Given the description of an element on the screen output the (x, y) to click on. 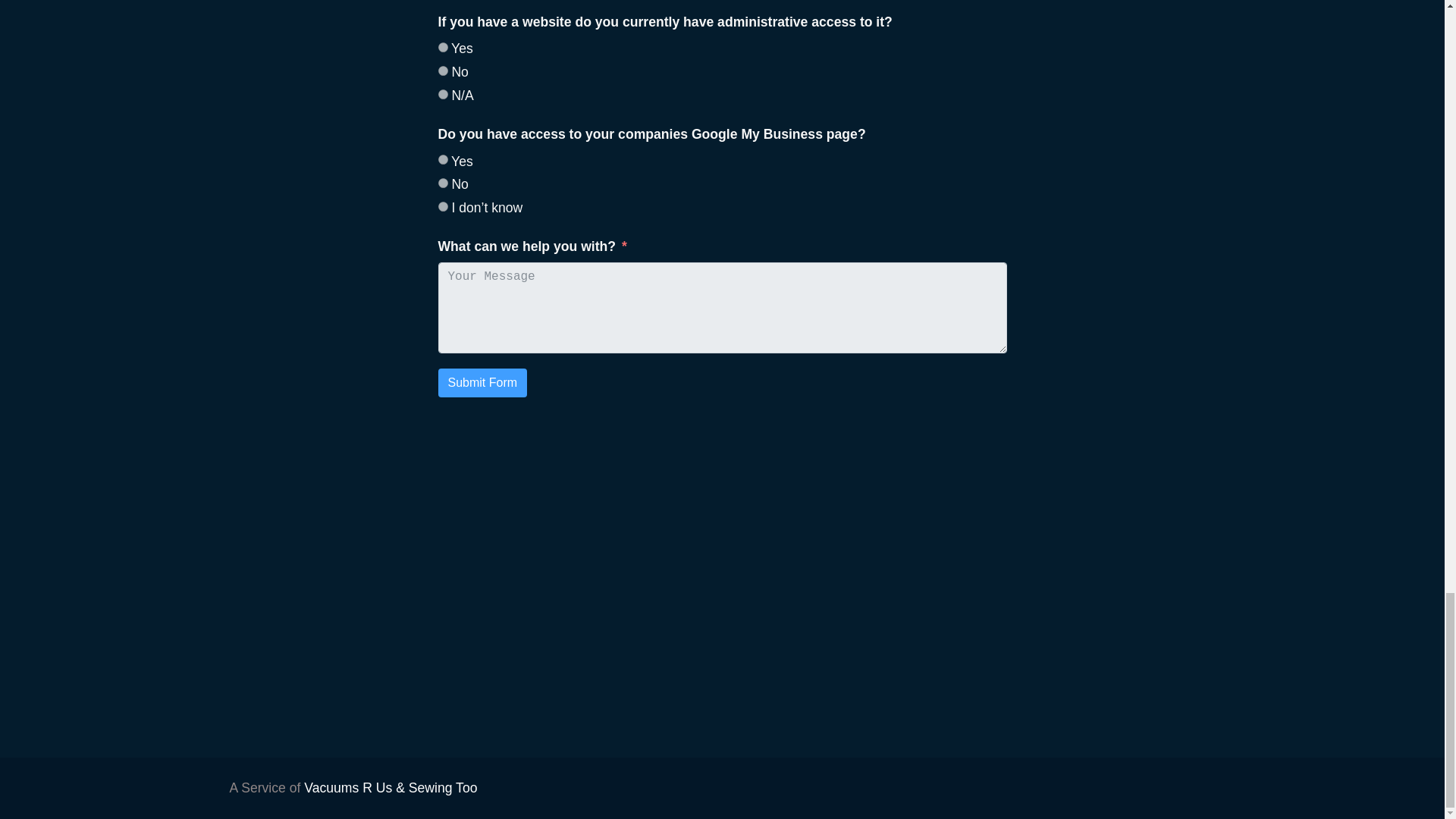
Submit Form (482, 382)
yes (443, 159)
no (443, 183)
no (443, 71)
yes (443, 47)
I don't know (443, 206)
